Given the description of an element on the screen output the (x, y) to click on. 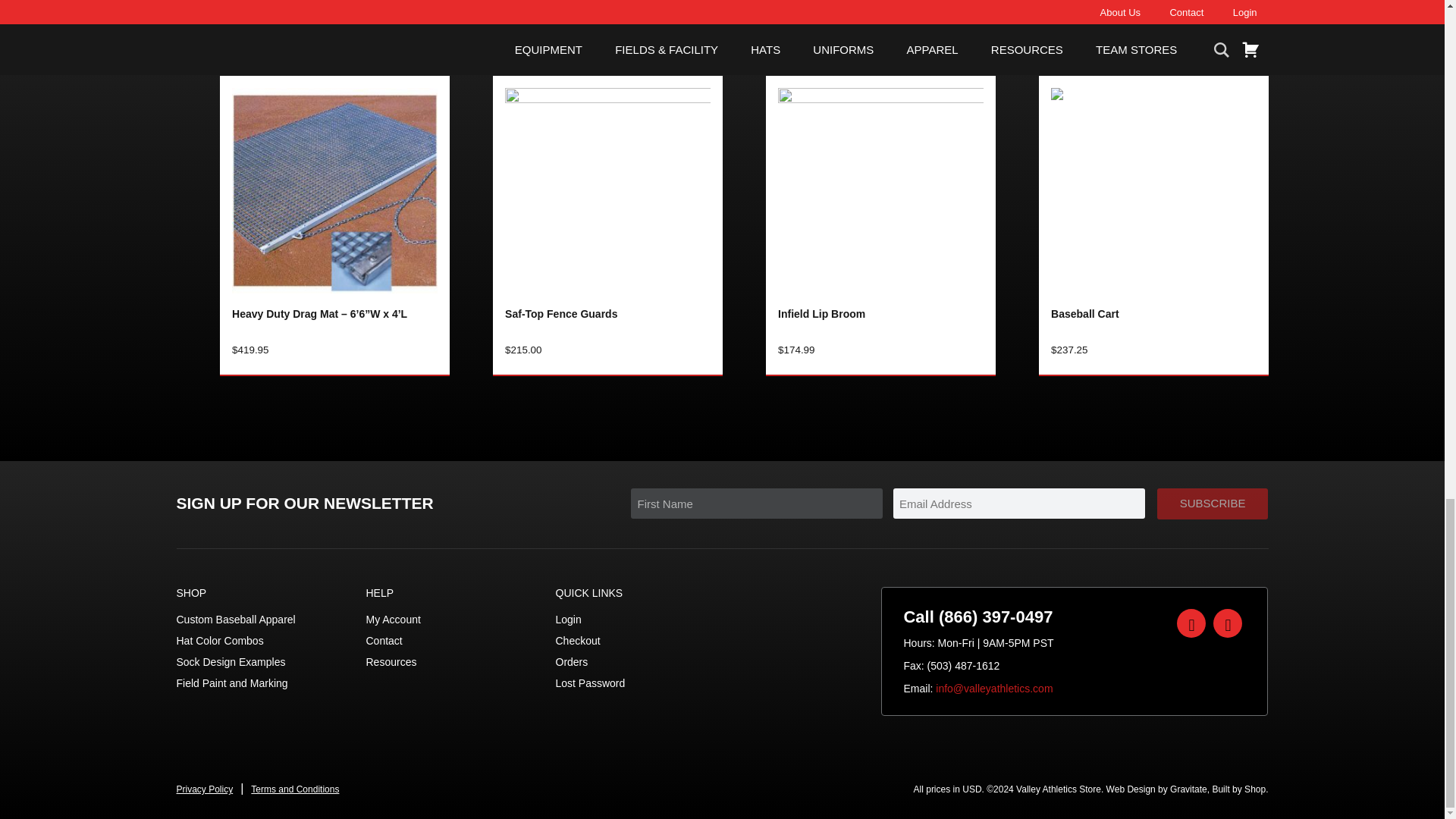
Web Developer (1238, 788)
Web Designer (1156, 788)
Subscribe (1212, 503)
